Given the description of an element on the screen output the (x, y) to click on. 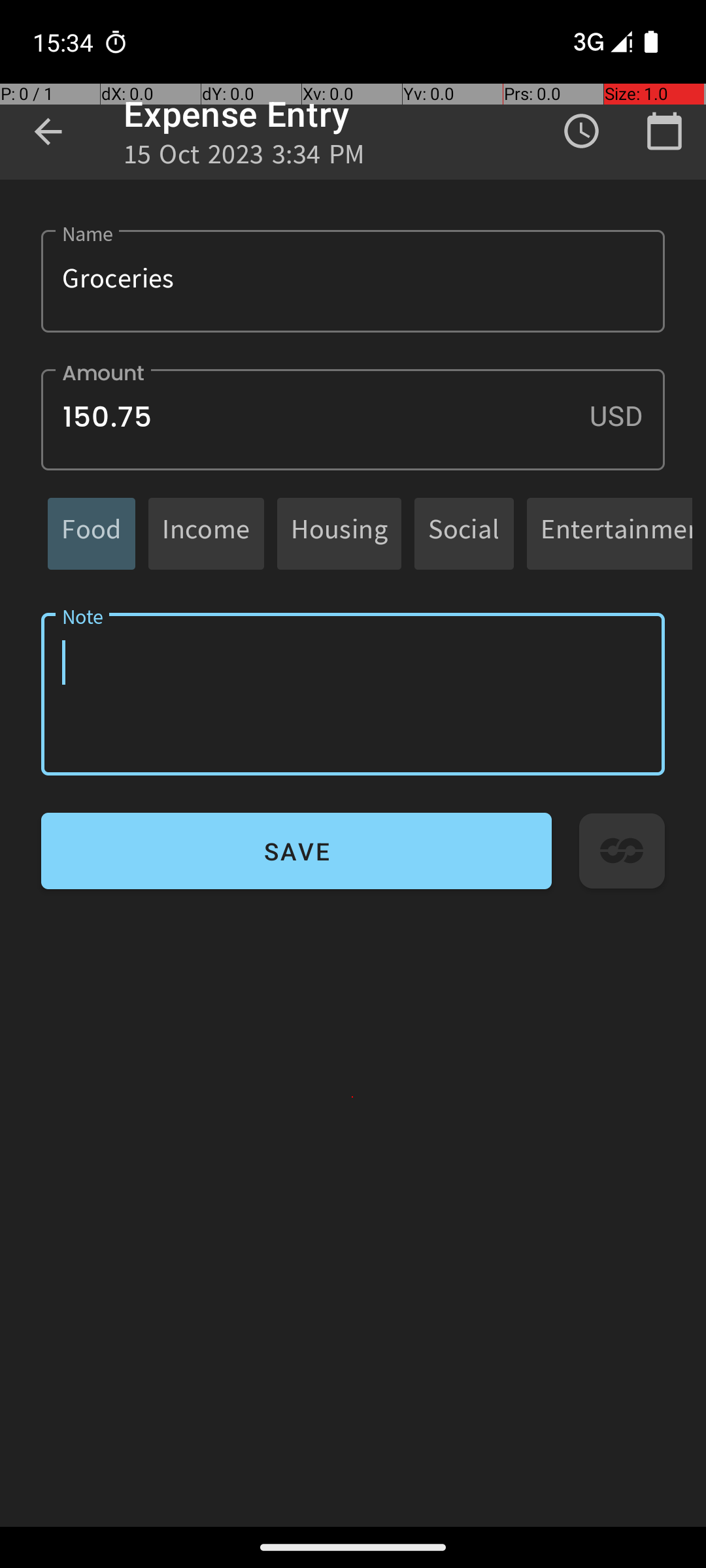
150.75 Element type: android.widget.EditText (352, 419)
